Given the description of an element on the screen output the (x, y) to click on. 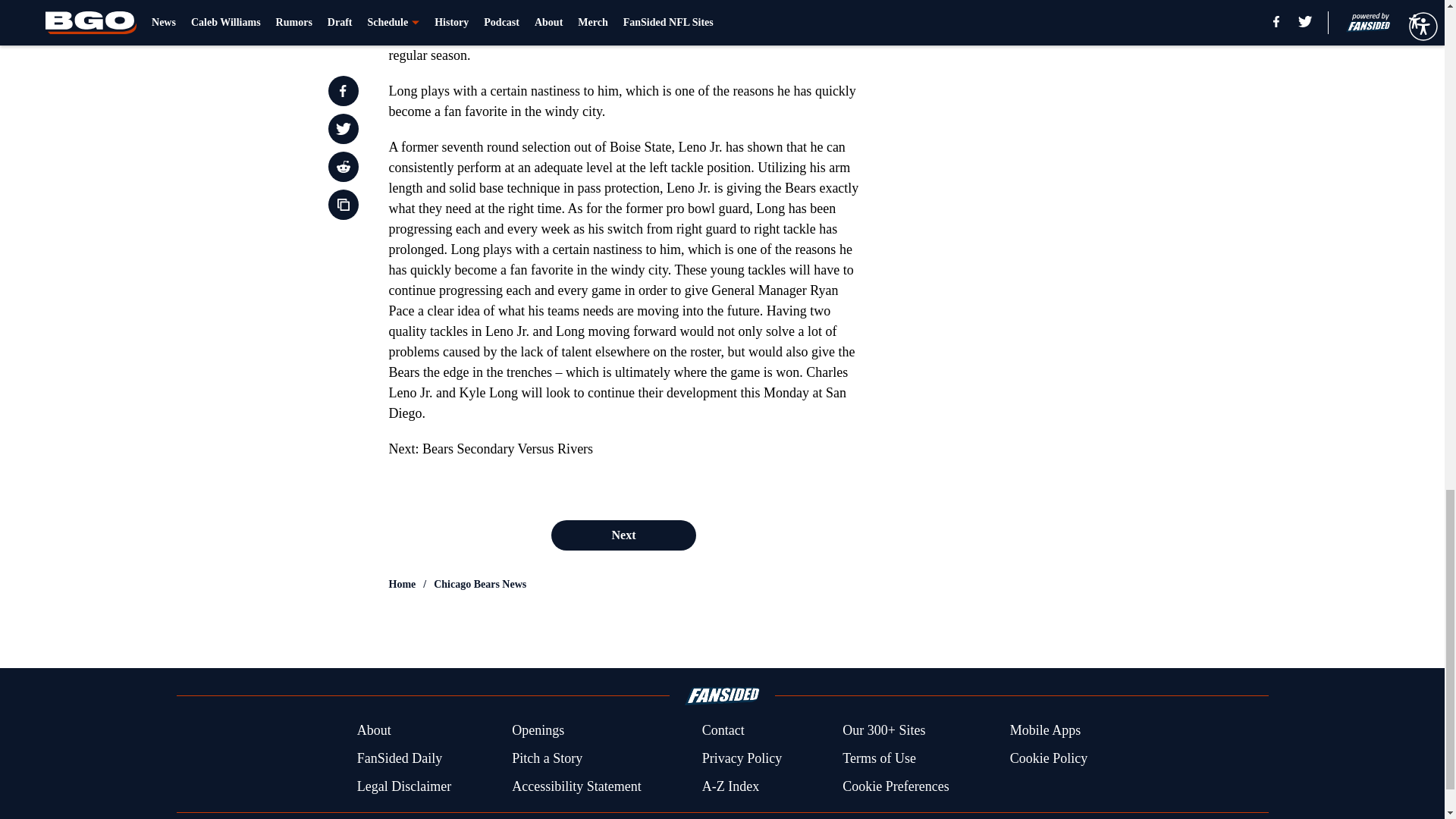
Next (622, 535)
Openings (538, 730)
Mobile Apps (1045, 730)
Chicago Bears News (479, 584)
About (373, 730)
FanSided Daily (399, 758)
Home (401, 584)
Contact (722, 730)
Pitch a Story (547, 758)
